Given the description of an element on the screen output the (x, y) to click on. 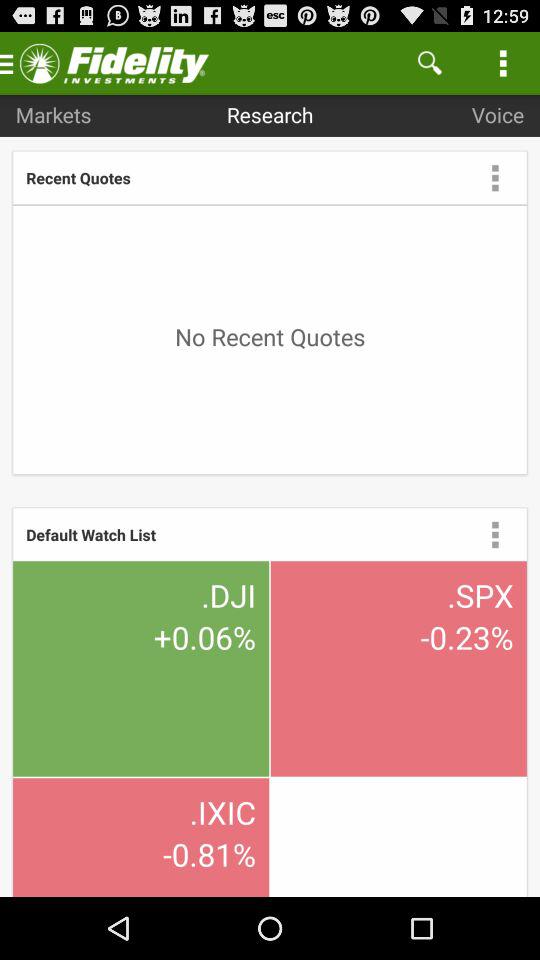
see more options (495, 534)
